Given the description of an element on the screen output the (x, y) to click on. 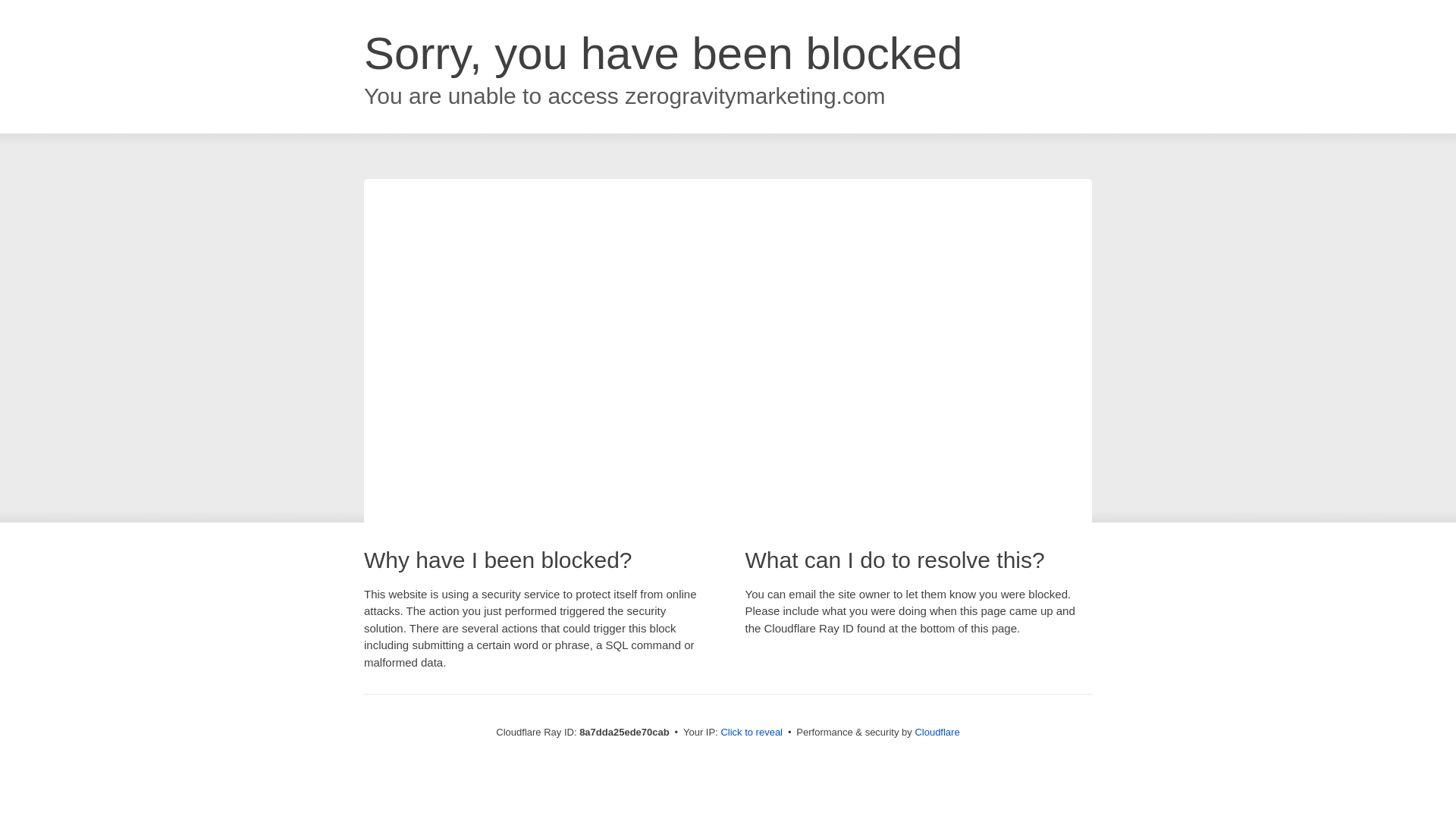
Click to reveal (751, 732)
Cloudflare (936, 731)
